Given the description of an element on the screen output the (x, y) to click on. 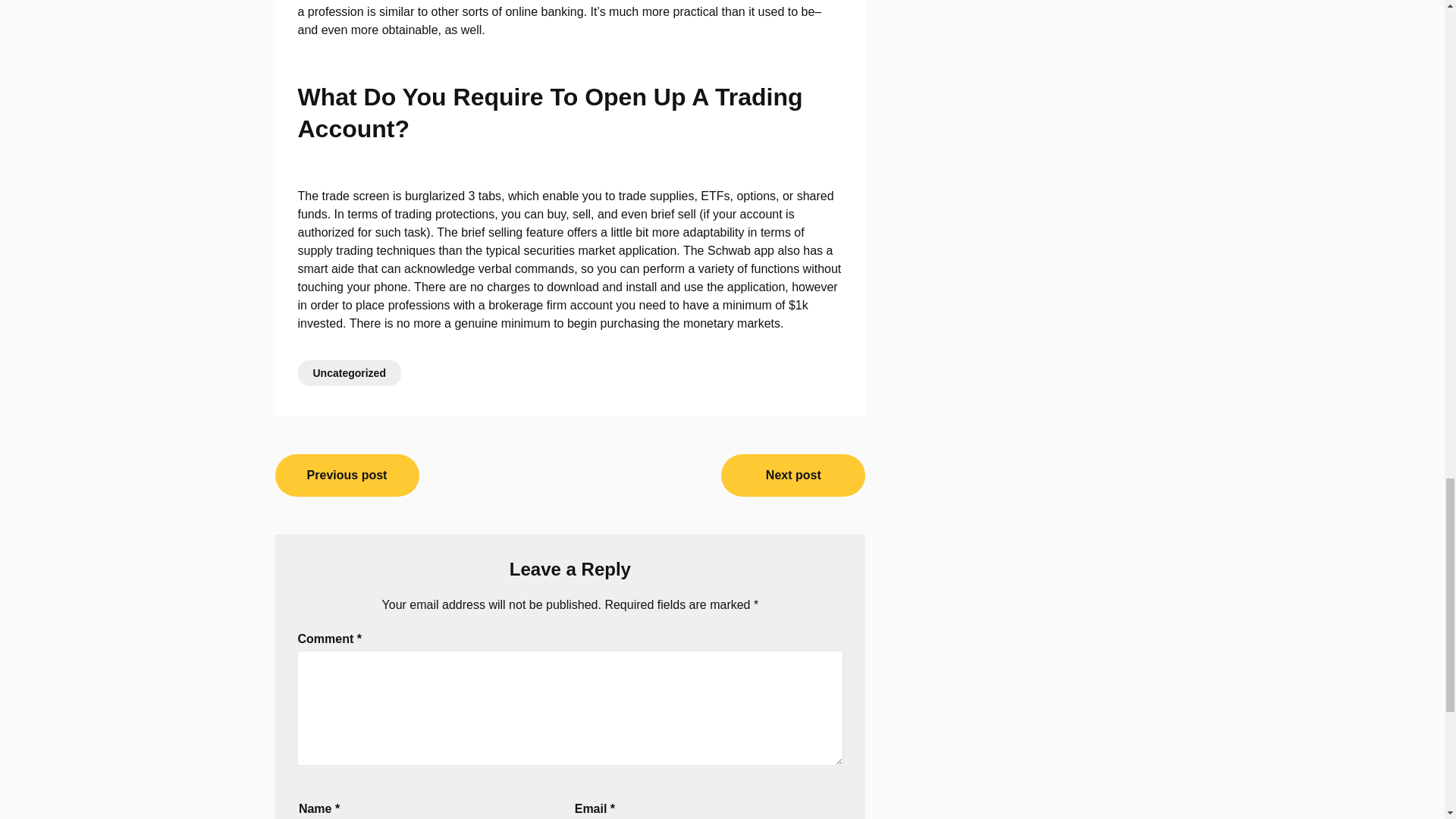
Previous post (347, 475)
Uncategorized (348, 372)
Next post (792, 475)
